Given the description of an element on the screen output the (x, y) to click on. 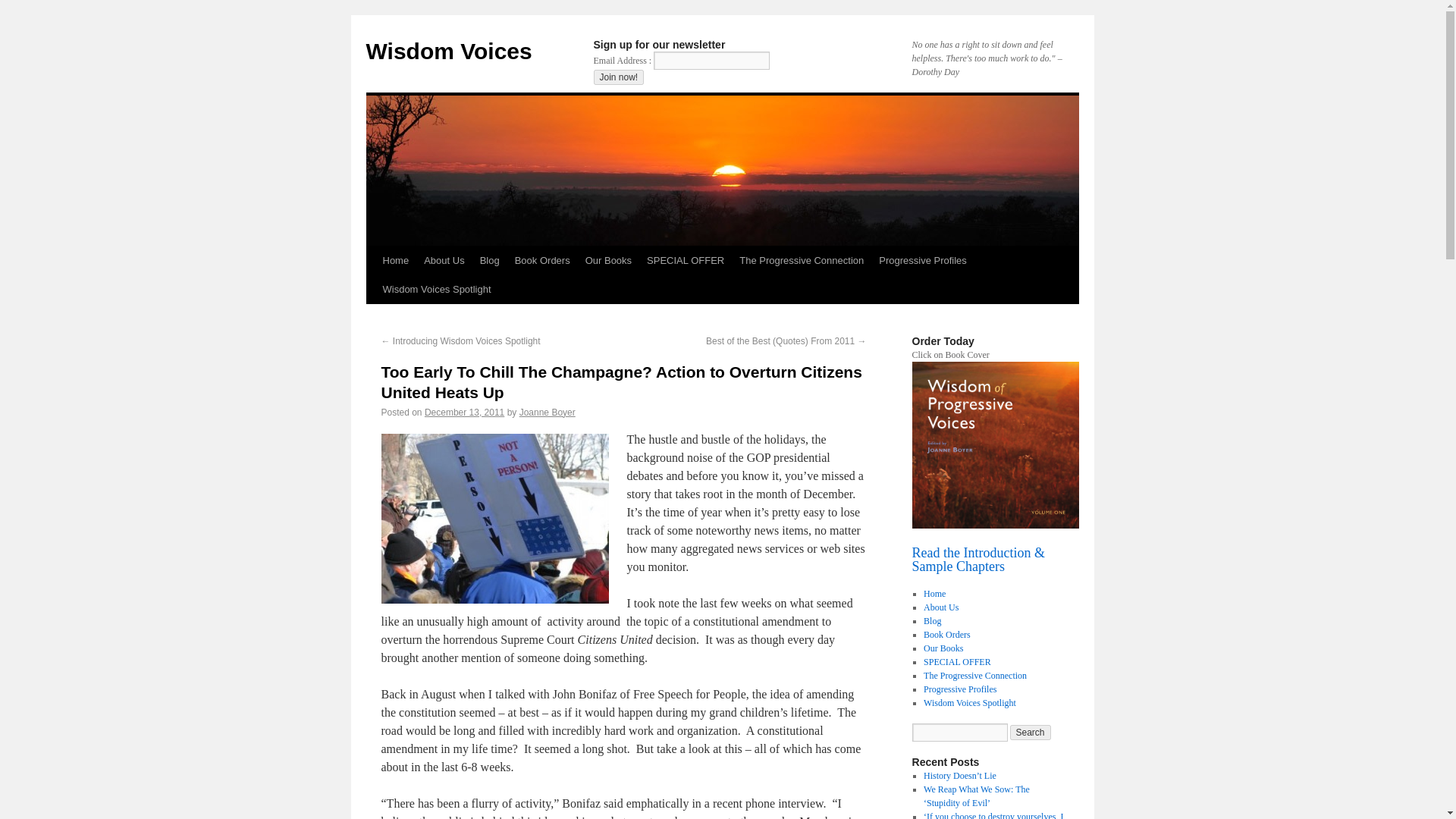
3:31 pm (464, 412)
December 13, 2011 (464, 412)
Search (1030, 732)
Wisdom Voices (448, 50)
The Progressive Connection (801, 260)
Book Orders (542, 260)
View all posts by Joanne Boyer (547, 412)
Join now! (617, 77)
Wisdom Voices (448, 50)
SPECIAL OFFER (685, 260)
